Given the description of an element on the screen output the (x, y) to click on. 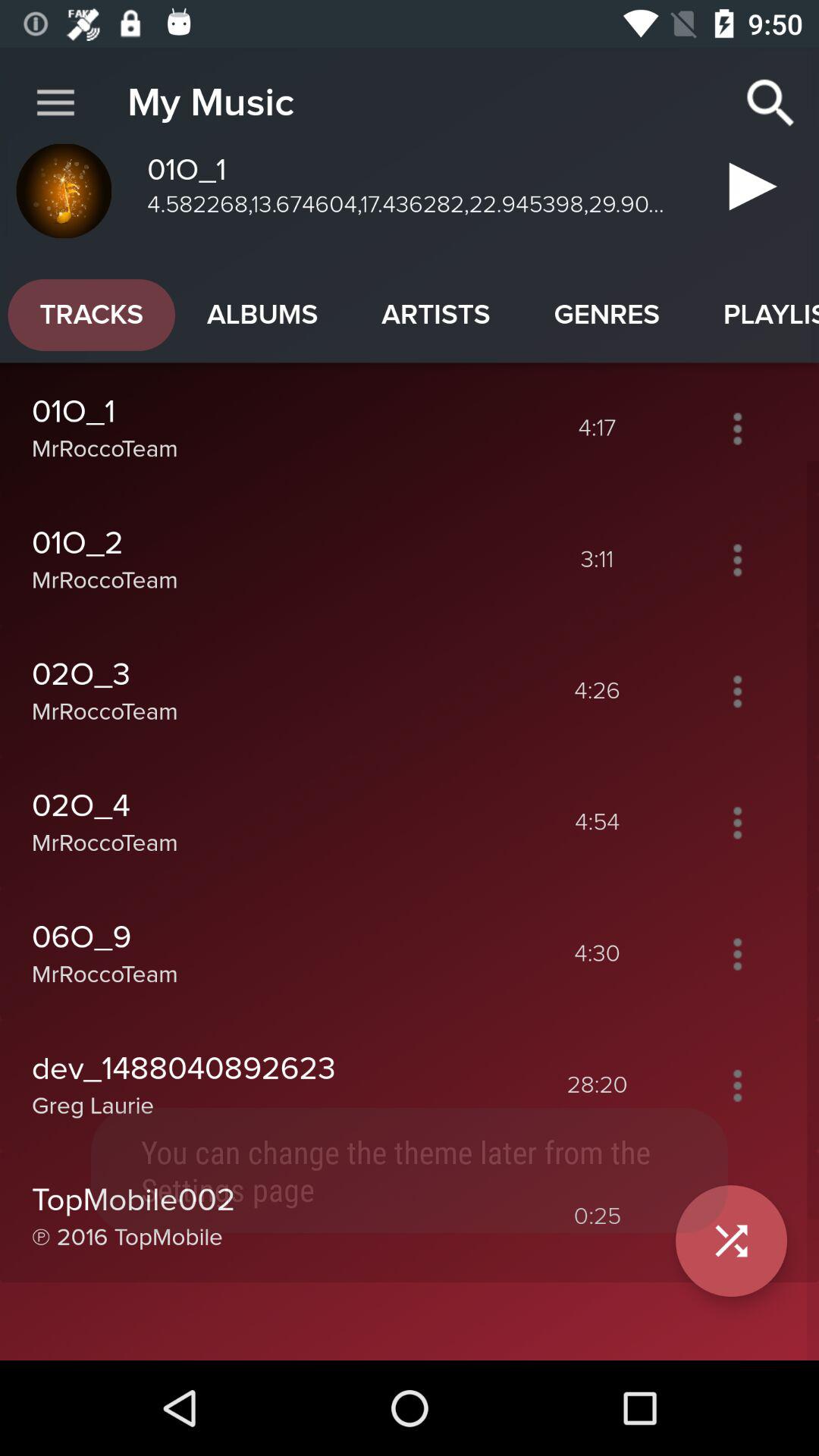
more track options (737, 428)
